Given the description of an element on the screen output the (x, y) to click on. 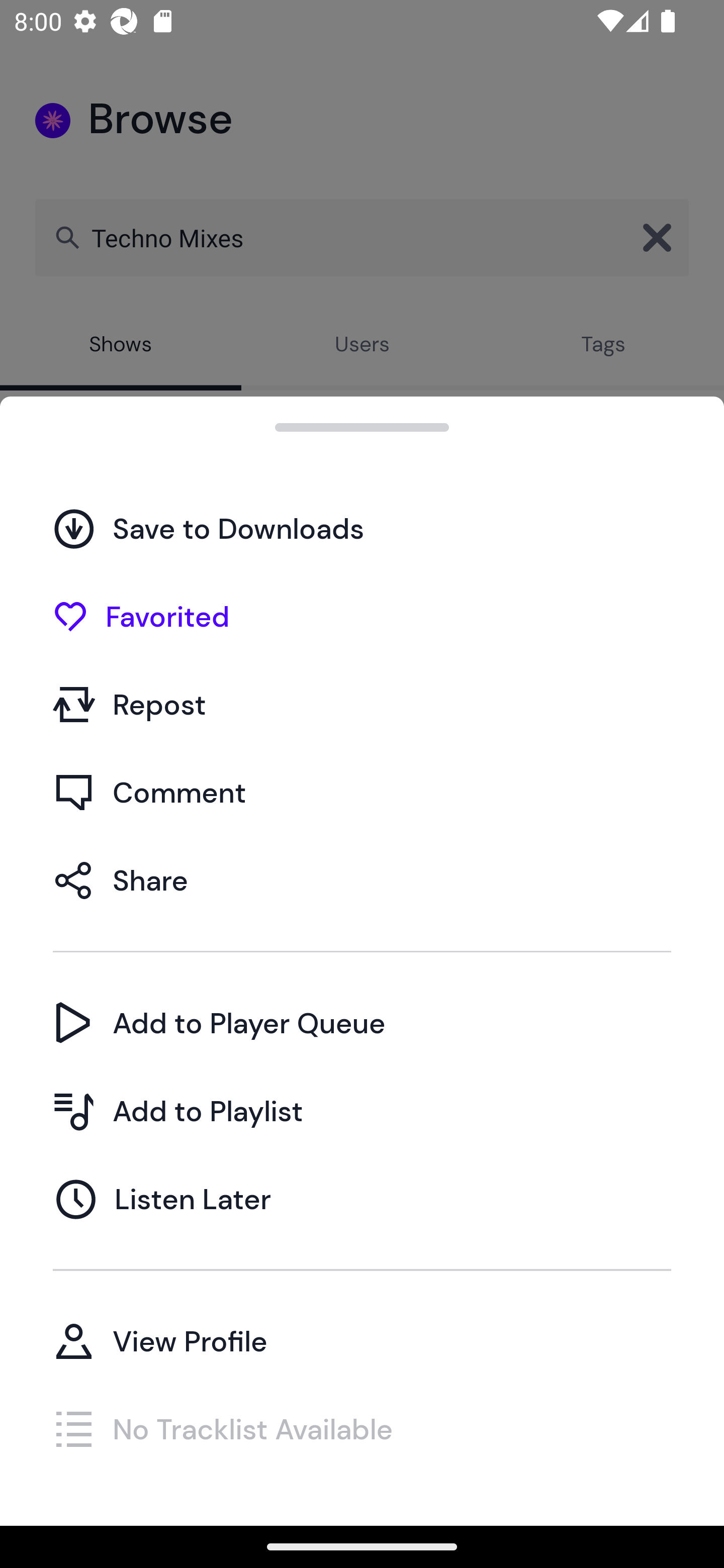
Save to Downloads (361, 528)
Favorited (361, 616)
Repost (361, 703)
Comment (361, 791)
Share (361, 879)
Add to Player Queue (361, 1022)
Add to Playlist (361, 1110)
Listen Later (361, 1199)
View Profile (361, 1340)
No Tracklist Available (361, 1428)
